Given the description of an element on the screen output the (x, y) to click on. 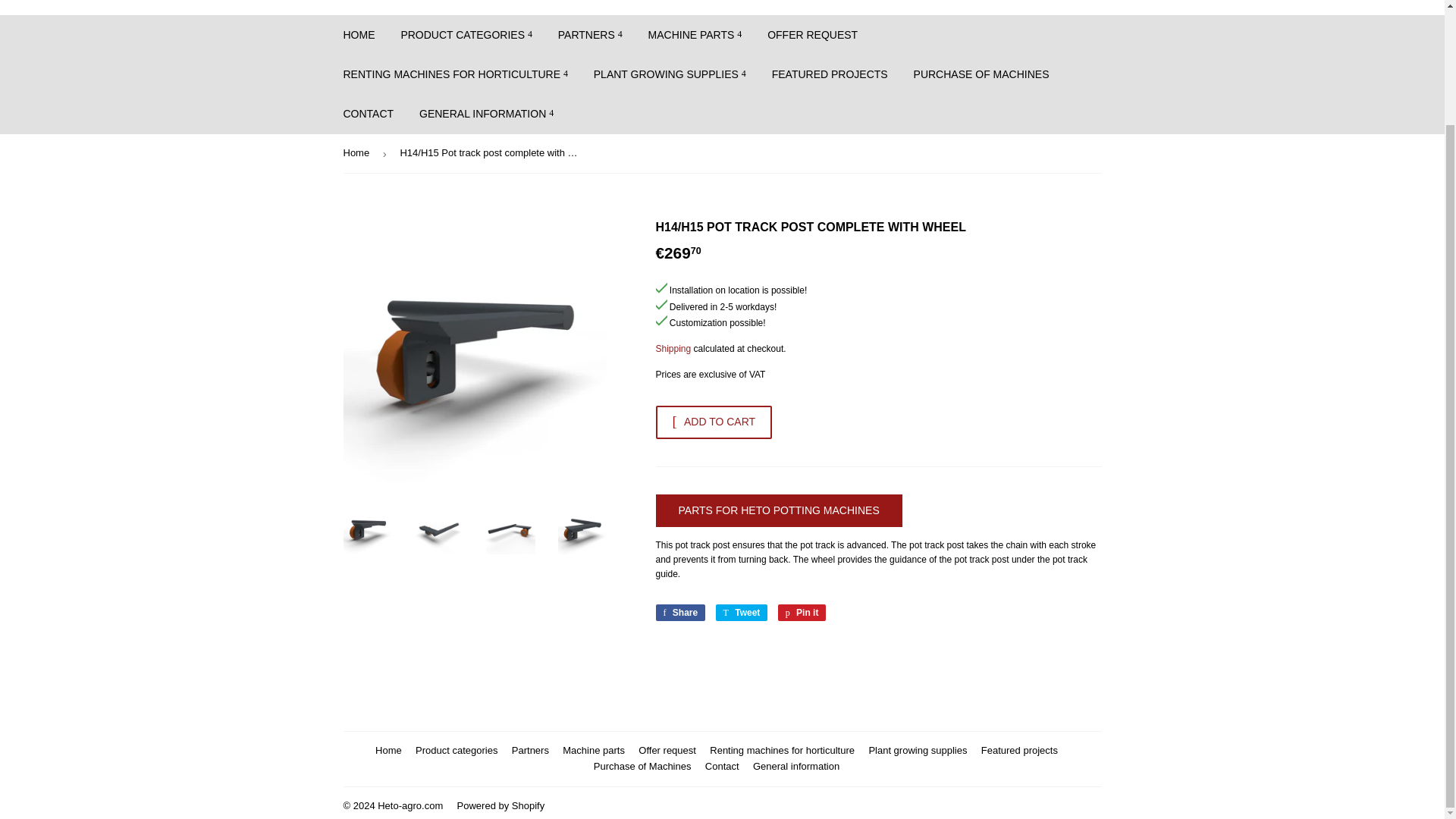
Pin on Pinterest (802, 612)
Share on Facebook (679, 612)
Tweet on Twitter (742, 612)
